Given the description of an element on the screen output the (x, y) to click on. 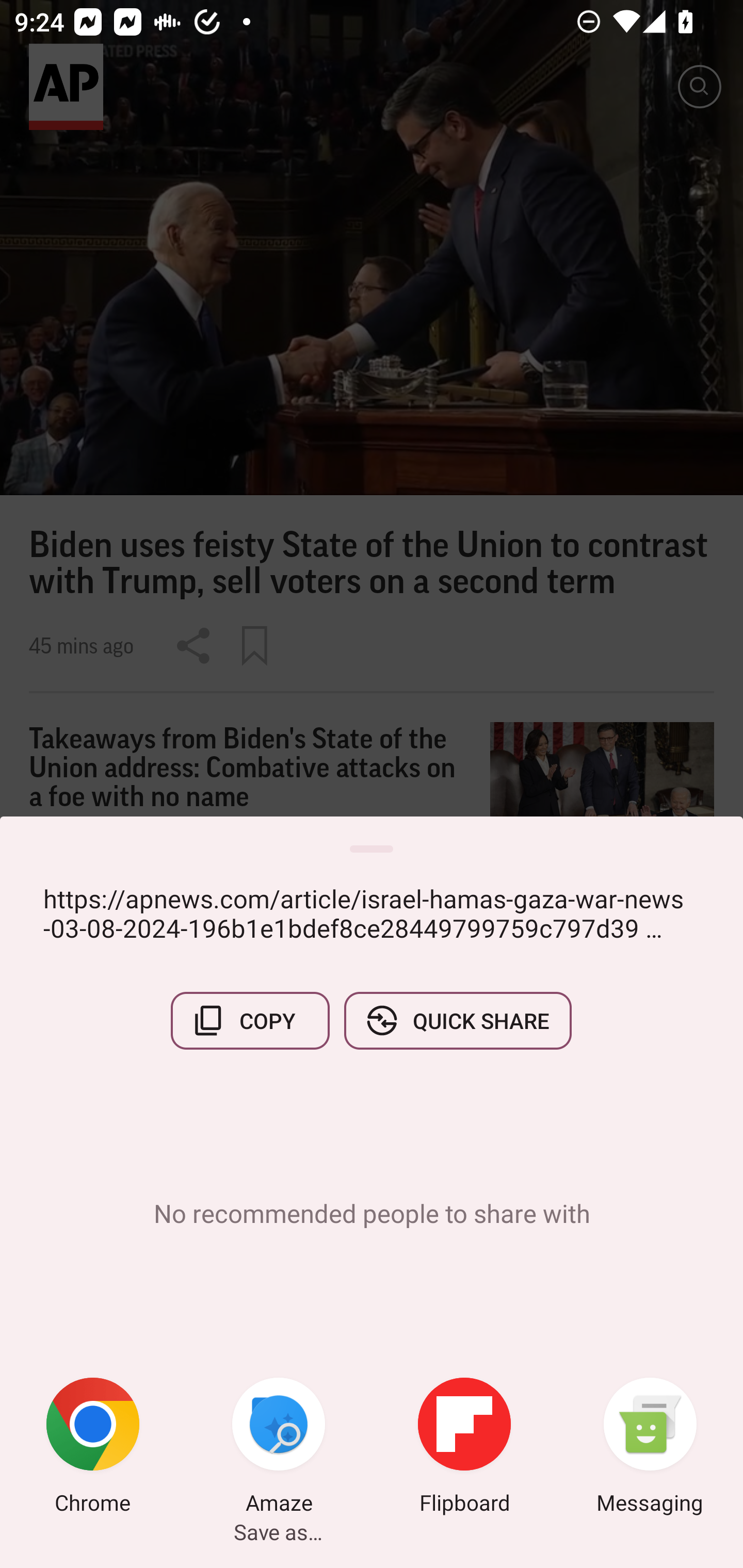
COPY (249, 1020)
QUICK SHARE (457, 1020)
Chrome (92, 1448)
Amaze Save as… (278, 1448)
Flipboard (464, 1448)
Messaging (650, 1448)
